Given the description of an element on the screen output the (x, y) to click on. 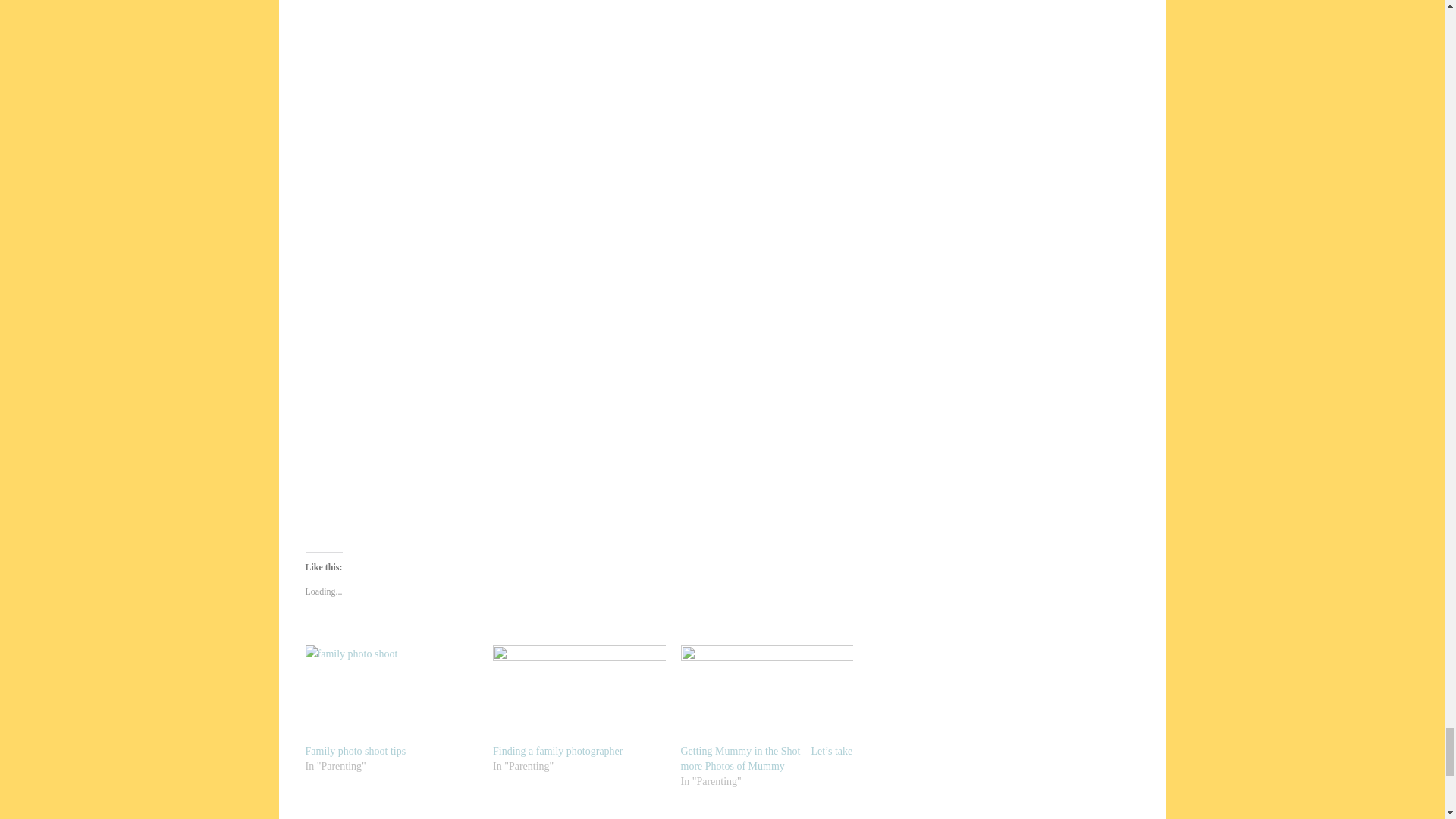
Family photo shoot tips (390, 694)
Finding a family photographer (579, 694)
Family photo shoot tips (355, 750)
Finding a family photographer (558, 750)
